Given the description of an element on the screen output the (x, y) to click on. 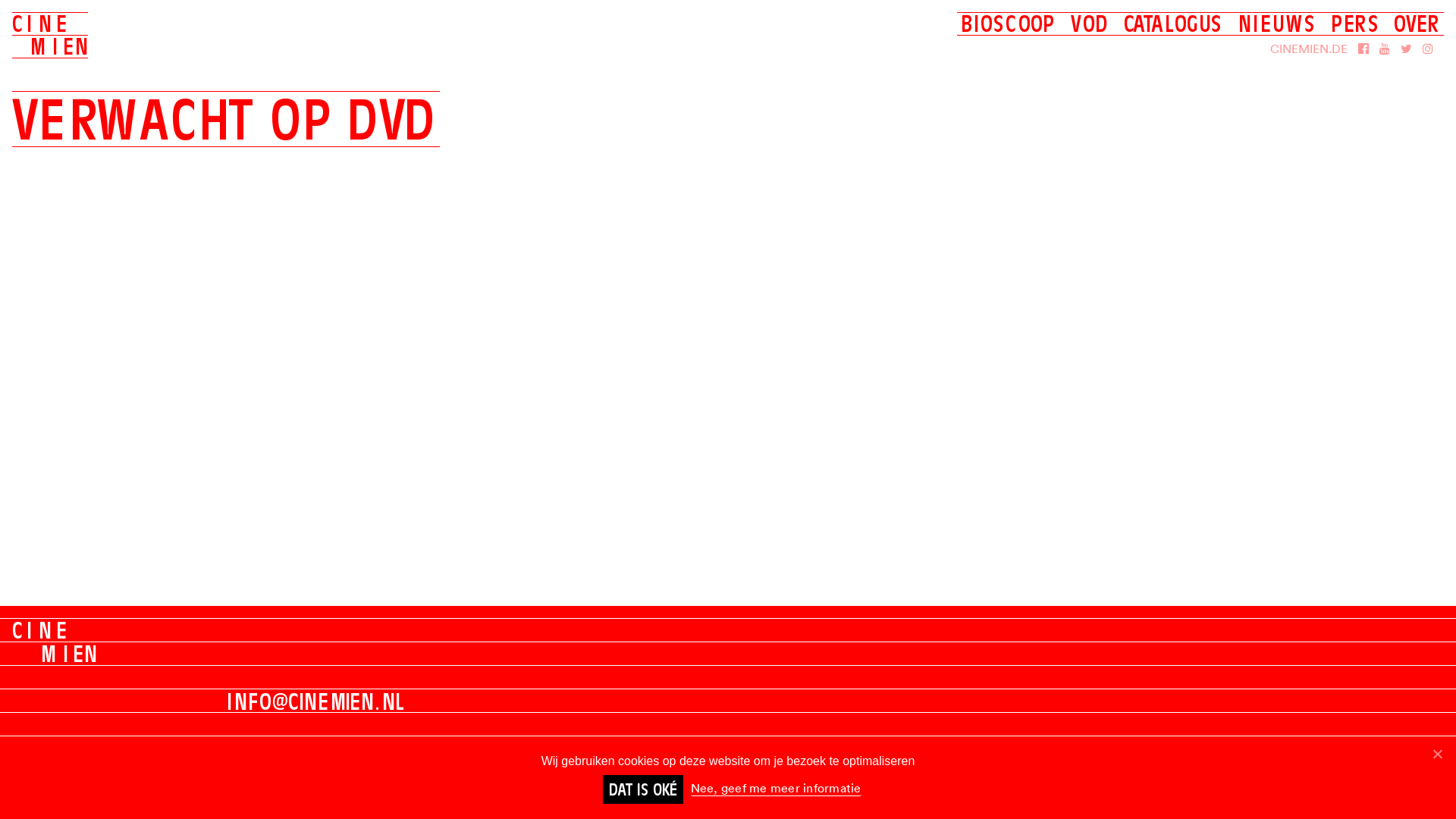
NIEUWS Element type: text (1276, 23)
VOD Element type: text (1089, 23)
OVER Element type: text (1416, 23)
CINE
MIEN Element type: text (49, 35)
CINEMIEN.DE Element type: text (1308, 48)
BIOSCOOP Element type: text (1007, 23)
Nee, geef me meer informatie Element type: text (775, 788)
CATALOGUS Element type: text (1173, 23)
PERS Element type: text (1354, 23)
